Given the description of an element on the screen output the (x, y) to click on. 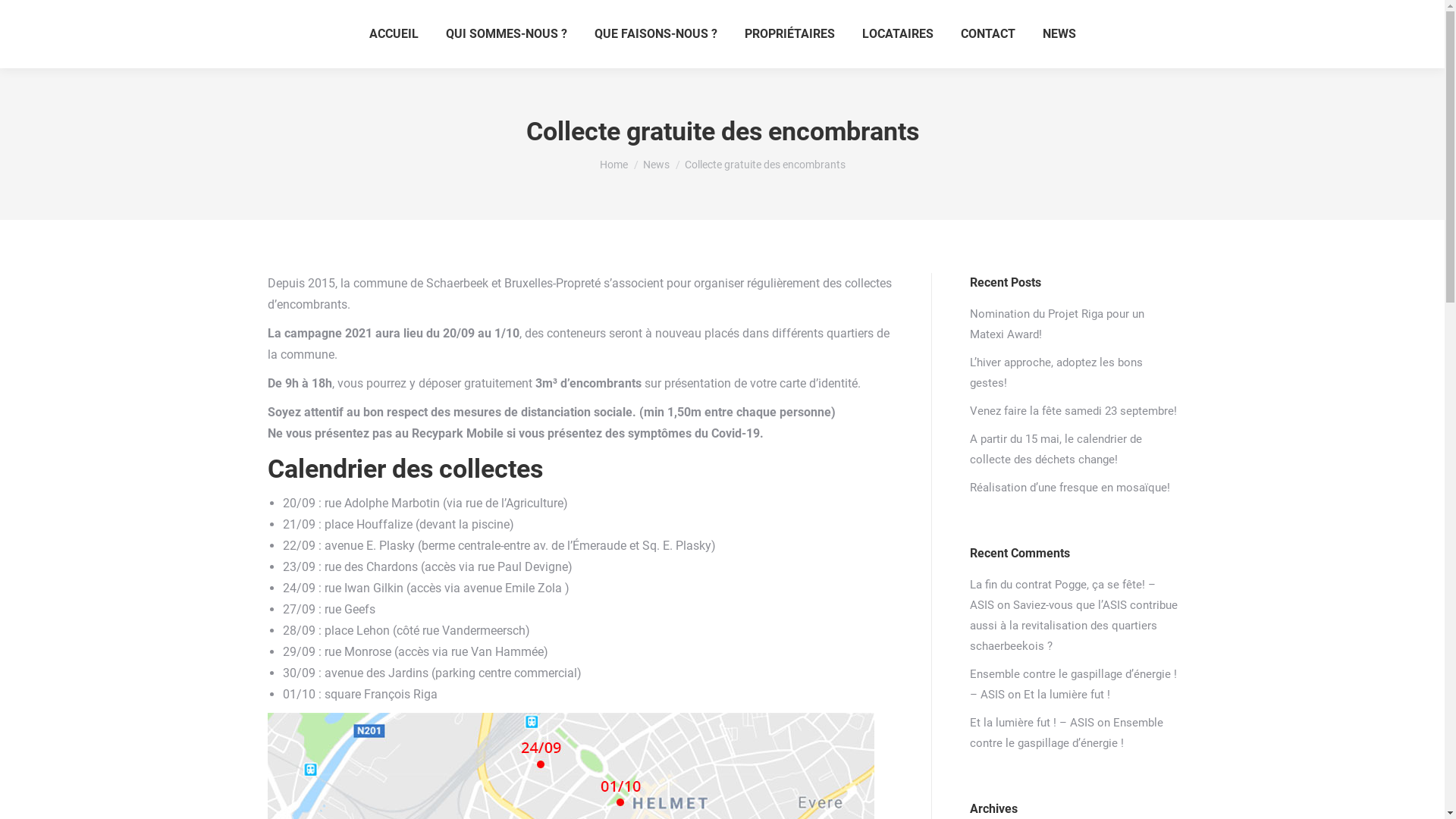
Nomination du Projet Riga pour un Matexi Award! Element type: text (1072, 324)
Home Element type: text (613, 164)
CONTACT Element type: text (987, 33)
Idealogy Element type: text (1158, 796)
LOCATAIRES Element type: text (896, 33)
QUE FAISONS-NOUS ? Element type: text (655, 33)
NEWS Element type: text (1058, 33)
News Element type: text (656, 164)
QUI SOMMES-NOUS ? Element type: text (506, 33)
ACCUEIL Element type: text (392, 33)
